Given the description of an element on the screen output the (x, y) to click on. 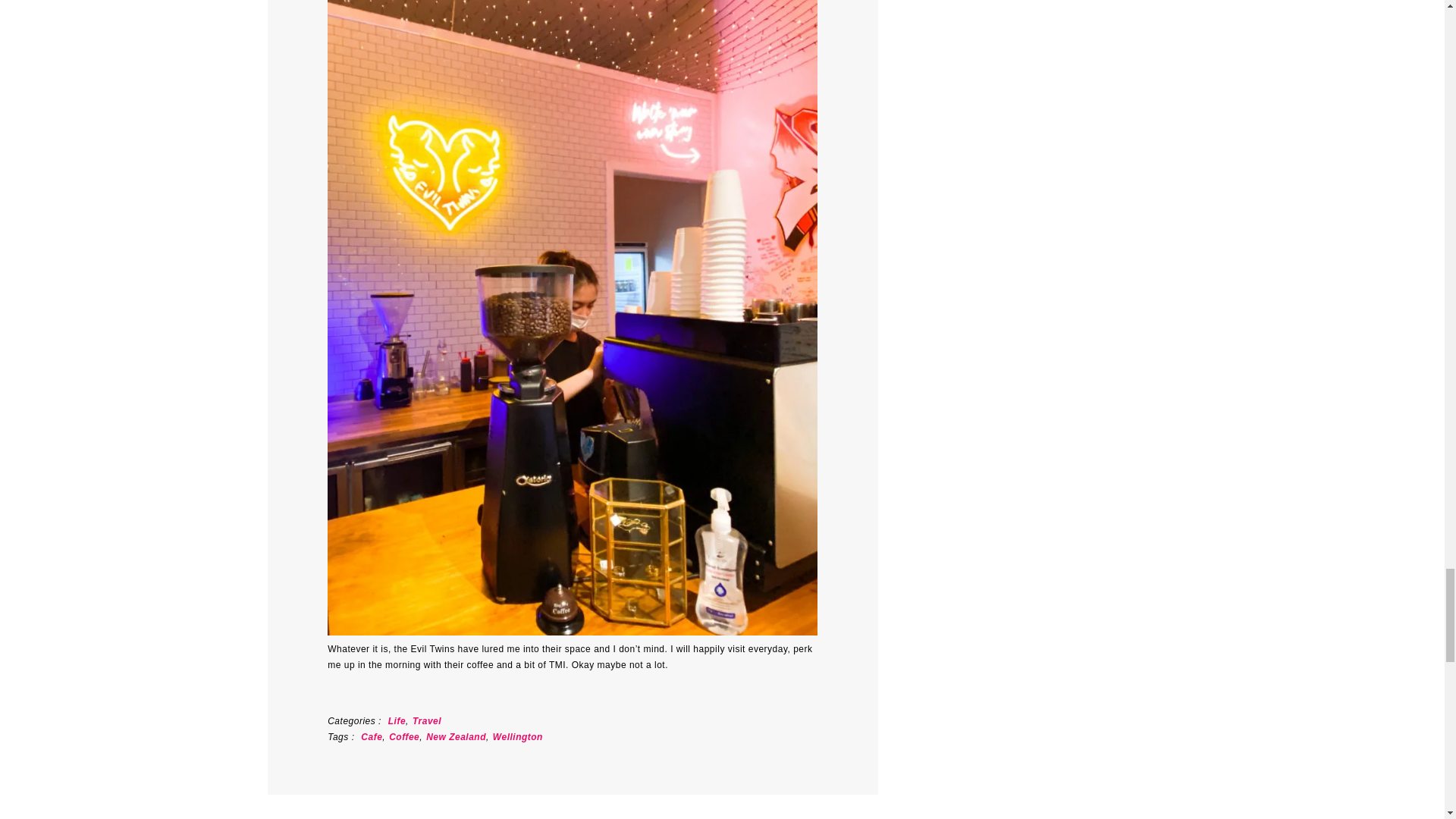
Life (397, 720)
Wellington (518, 737)
New Zealand (456, 737)
Travel (426, 720)
Cafe (371, 737)
Coffee (403, 737)
